Given the description of an element on the screen output the (x, y) to click on. 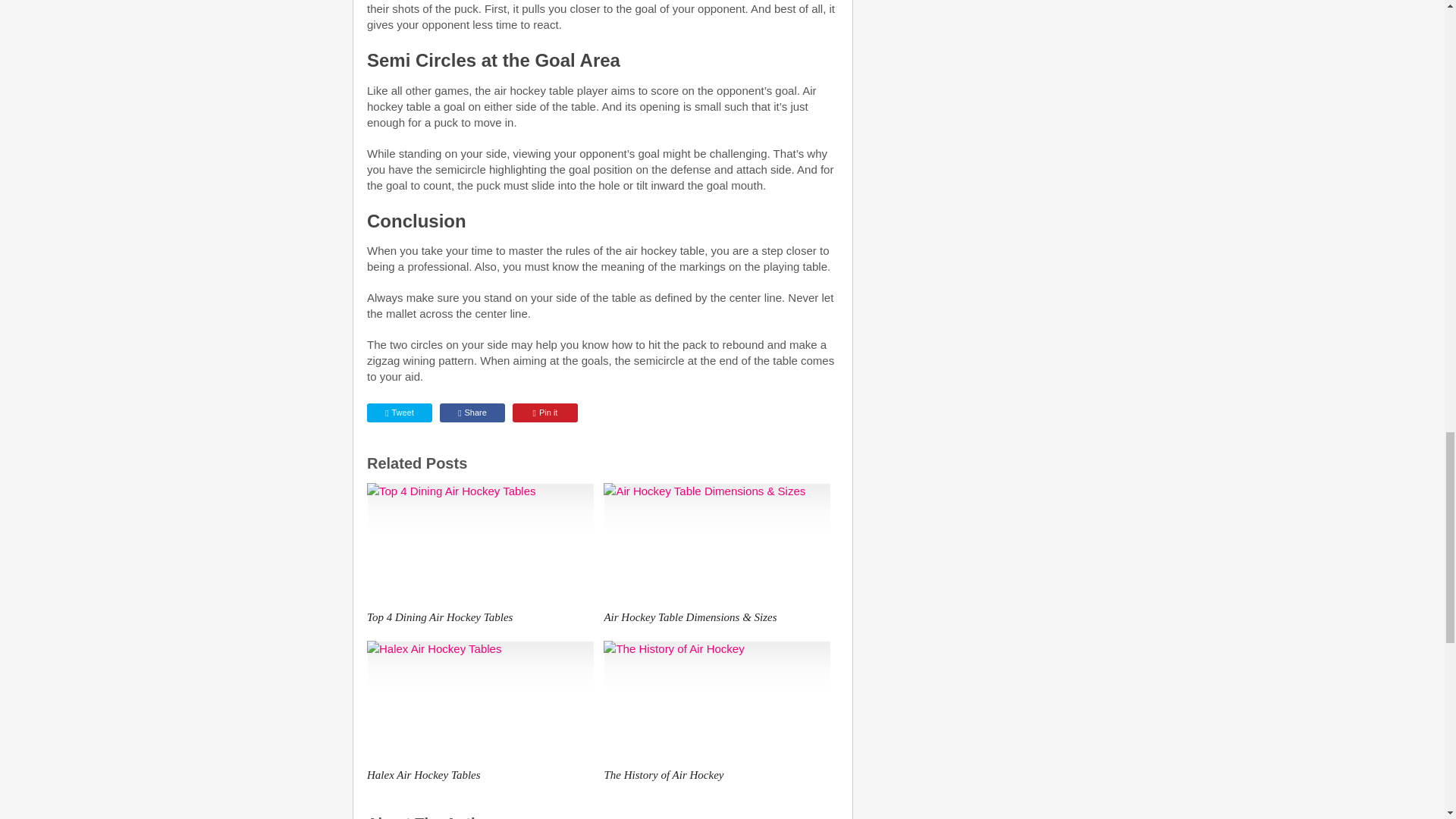
Halex Air Hockey Tables (480, 701)
Halex Air Hockey Tables (480, 775)
Top 4 Dining Air Hockey Tables (480, 543)
The History of Air Hockey (717, 701)
Top 4 Dining Air Hockey Tables (480, 617)
The History of Air Hockey (717, 775)
